Given the description of an element on the screen output the (x, y) to click on. 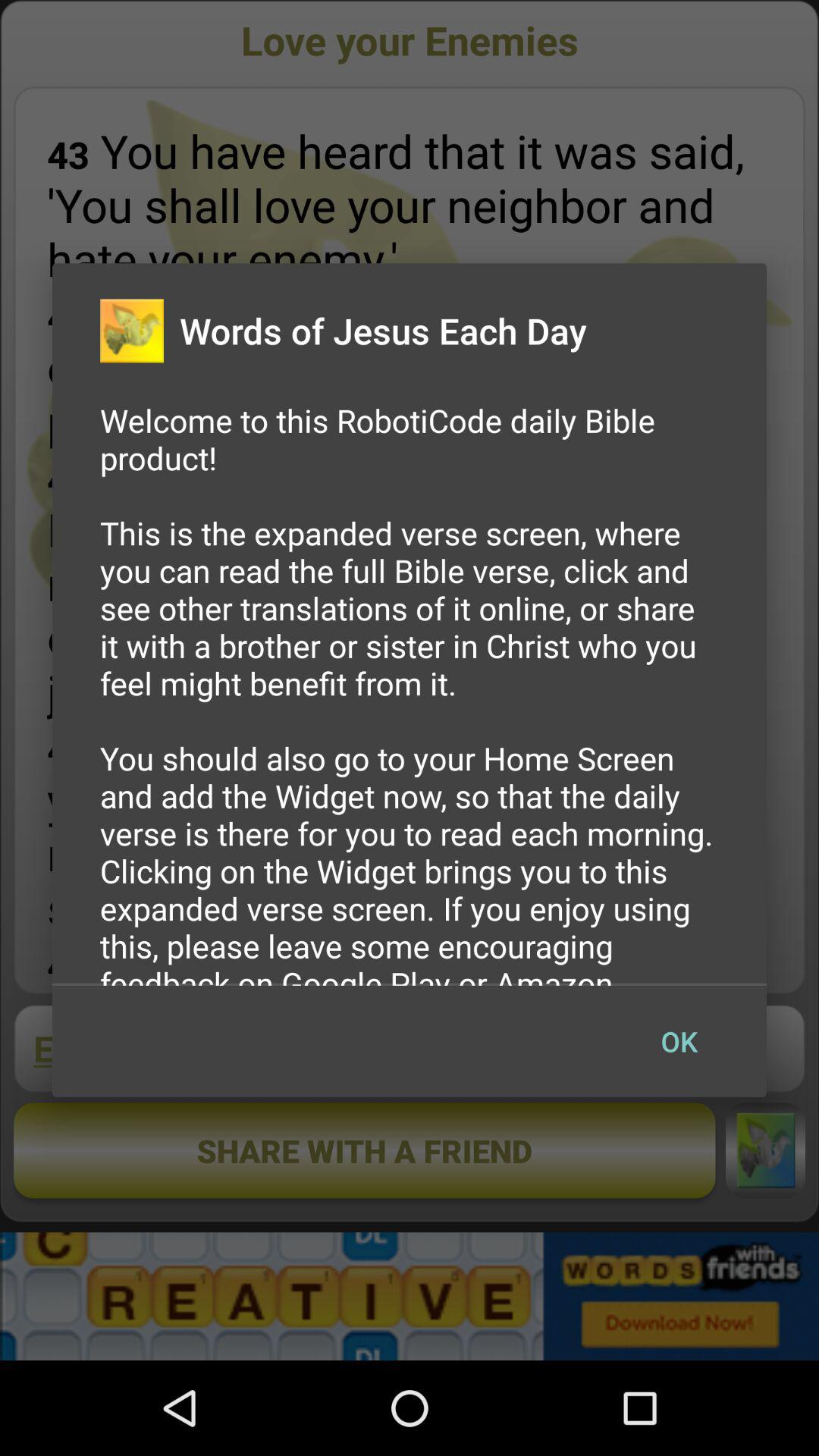
open the icon below the welcome to this app (678, 1041)
